Given the description of an element on the screen output the (x, y) to click on. 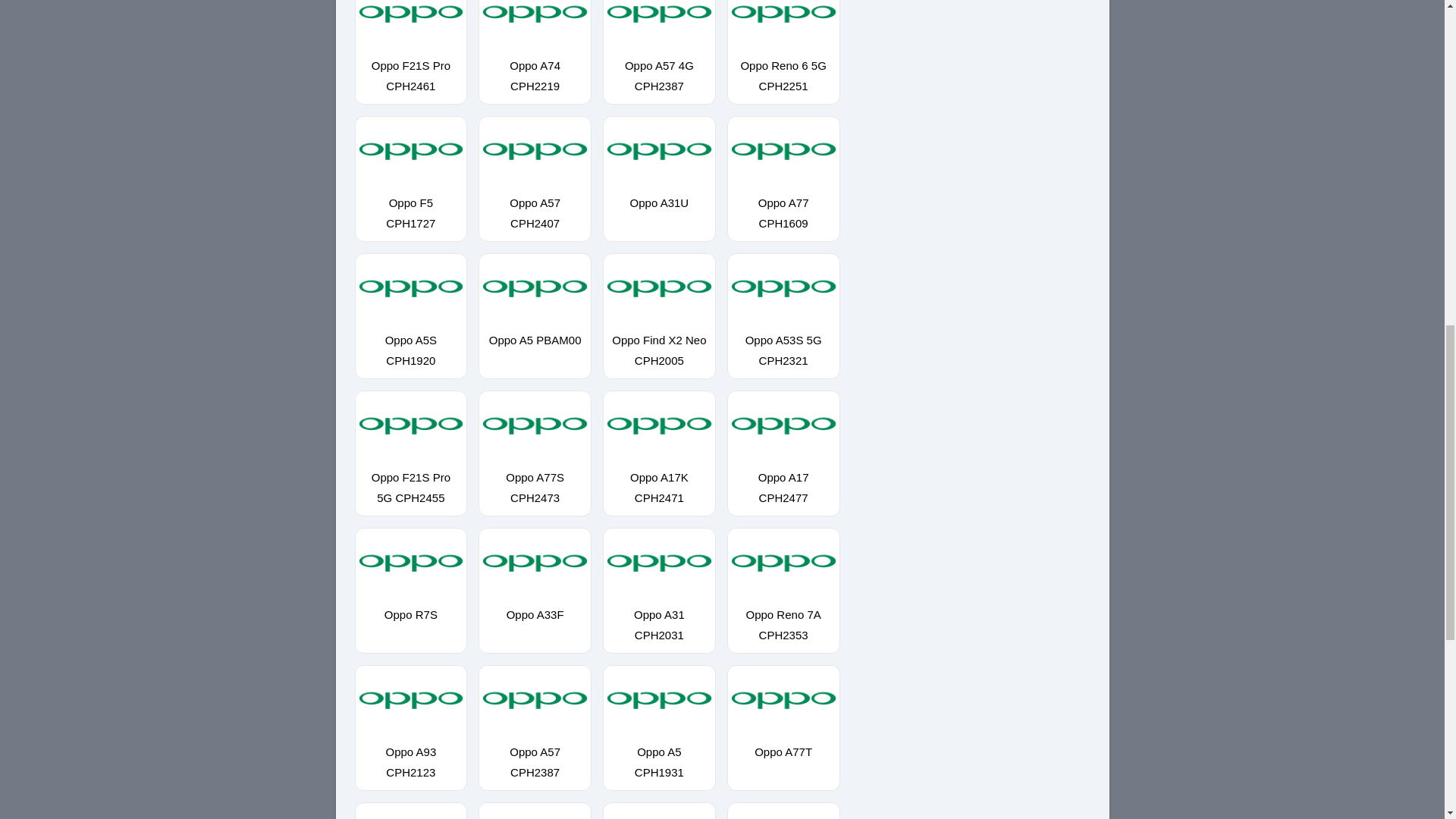
Oppo Find X2 Neo CPH2005 (659, 341)
Oppo A57 CPH2407 (535, 204)
Oppo A77S CPH2473 (535, 478)
Oppo A31U (659, 194)
Oppo F5 CPH1727 (410, 204)
Oppo F21S Pro CPH2461 (410, 67)
Oppo F21S Pro 5G CPH2455 (410, 478)
Oppo A77 CPH1609 (784, 204)
Oppo R7S (410, 606)
Oppo A17K CPH2471 (659, 478)
